Given the description of an element on the screen output the (x, y) to click on. 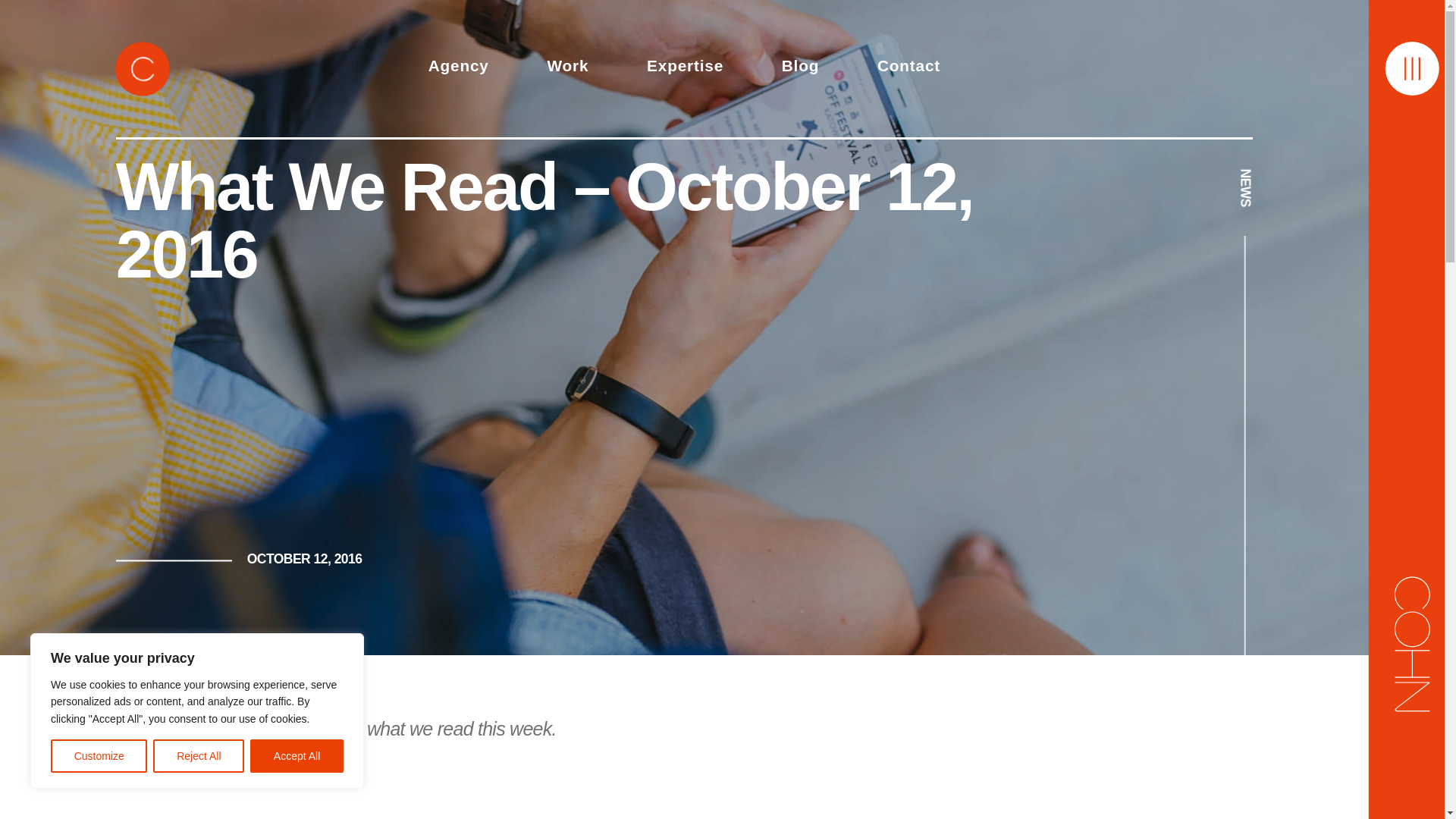
Accept All (296, 756)
Blog (799, 68)
Customize (98, 756)
Reject All (198, 756)
Work (567, 68)
Agency (458, 68)
Expertise (684, 68)
Contact (908, 68)
